Given the description of an element on the screen output the (x, y) to click on. 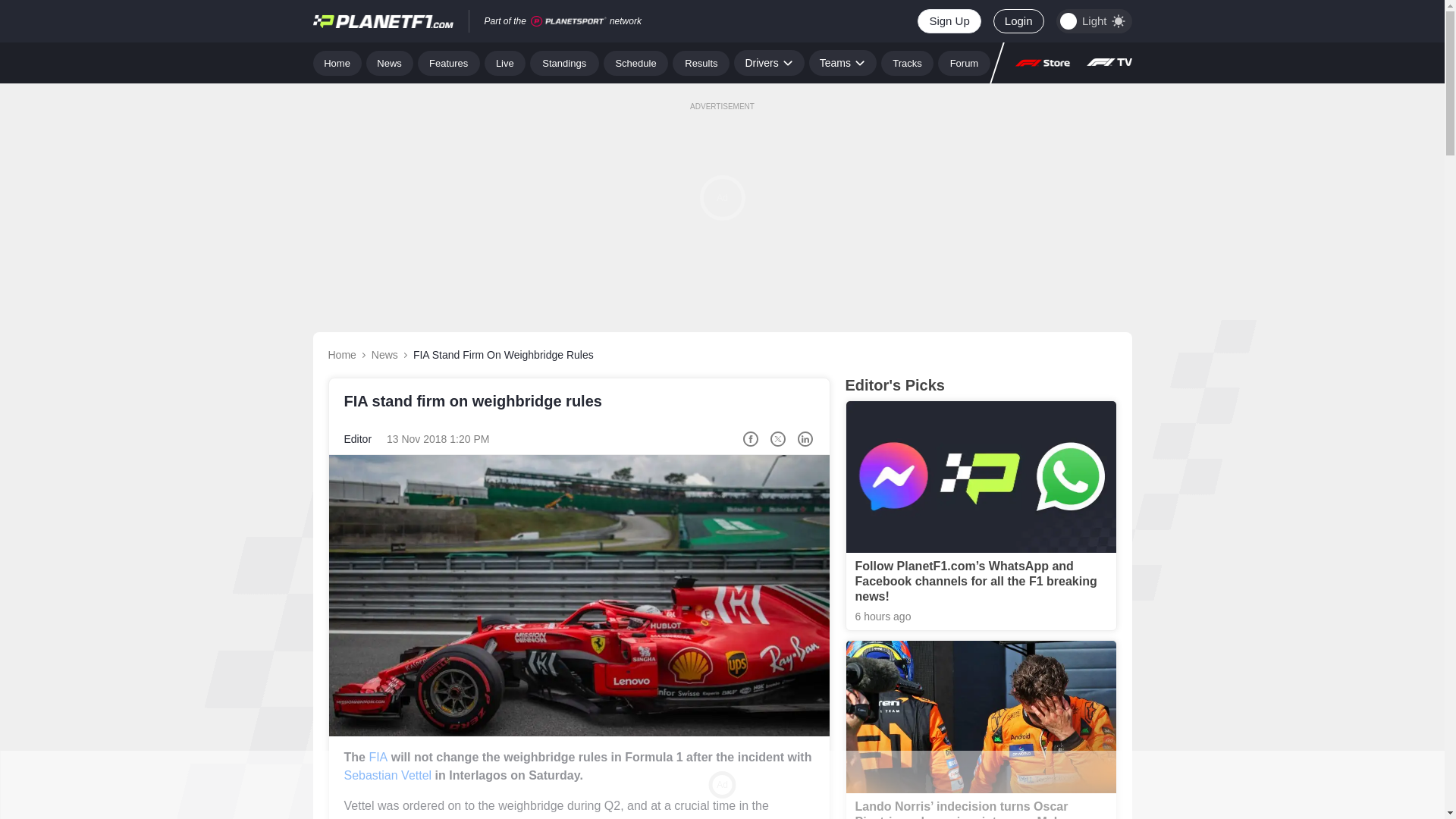
News (389, 62)
Results (700, 62)
Drivers (768, 62)
Teams (842, 62)
Sign Up (948, 21)
Live (504, 62)
Standings (563, 62)
Features (448, 62)
Schedule (636, 62)
Home (337, 62)
Login (1017, 21)
